Given the description of an element on the screen output the (x, y) to click on. 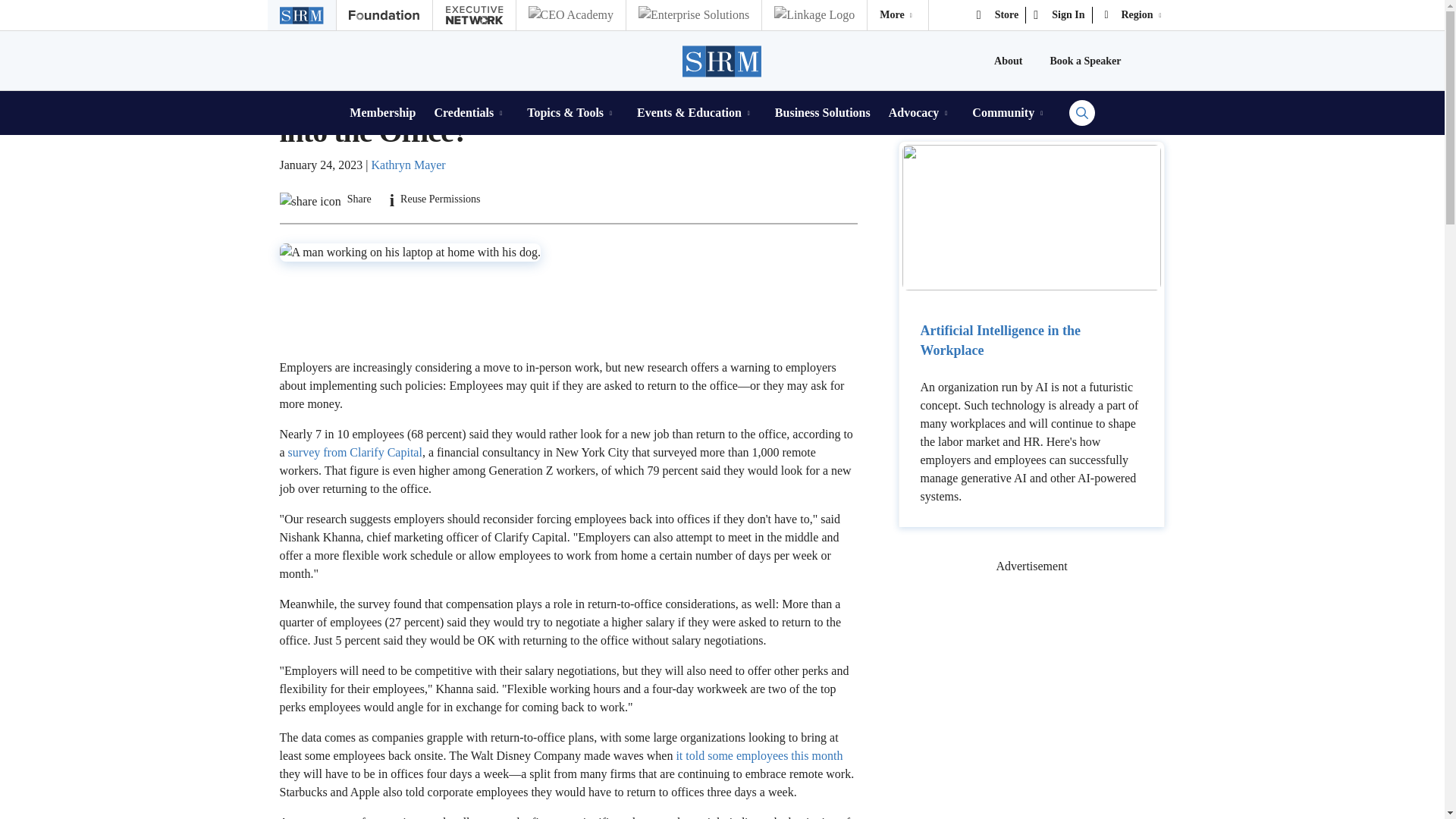
Credentials (470, 112)
Region (1134, 15)
CEO Academy (569, 15)
Book a Speaker (1085, 61)
About (1008, 61)
logo image (897, 15)
Sign In (1059, 15)
store (997, 15)
Store (997, 15)
Foundation (384, 15)
SHRM (300, 15)
Linkage (813, 15)
SHRM (722, 60)
Membership (381, 112)
language (1134, 15)
